Given the description of an element on the screen output the (x, y) to click on. 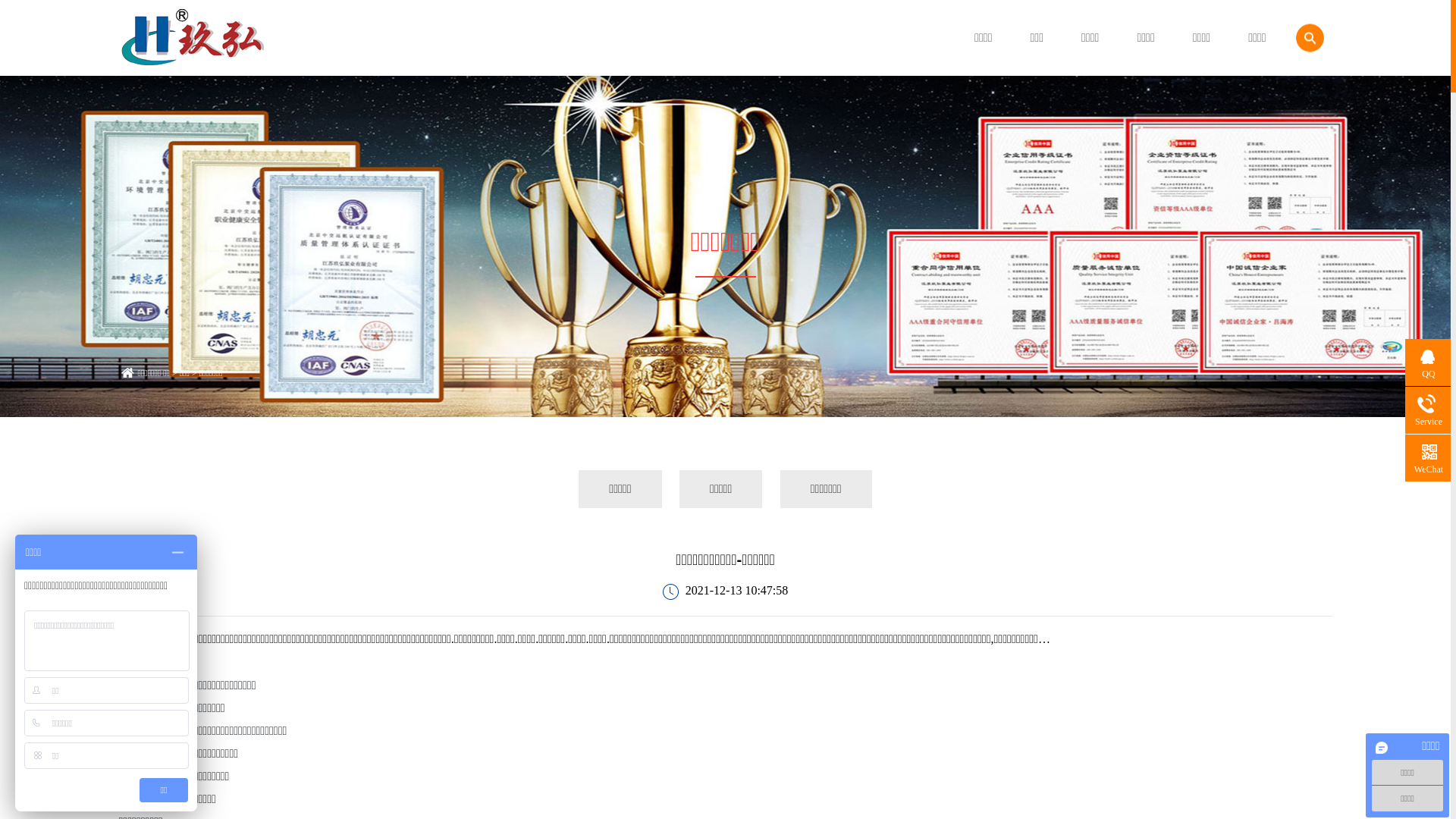
QQ Element type: text (1428, 363)
   Element type: text (1304, 83)
